Given the description of an element on the screen output the (x, y) to click on. 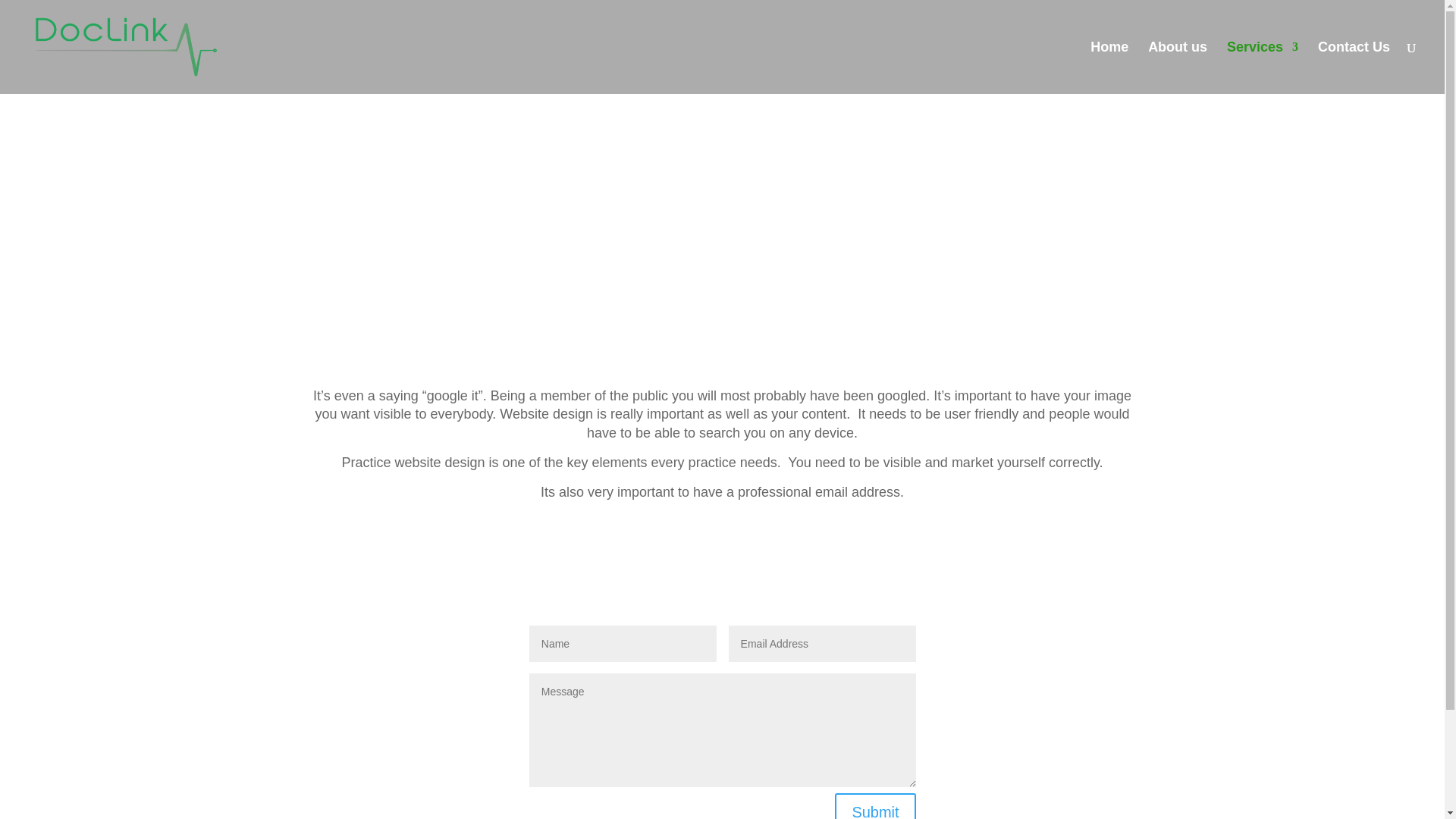
About us (1177, 67)
Contact Us (1353, 67)
Services (1262, 67)
Submit (874, 806)
